Given the description of an element on the screen output the (x, y) to click on. 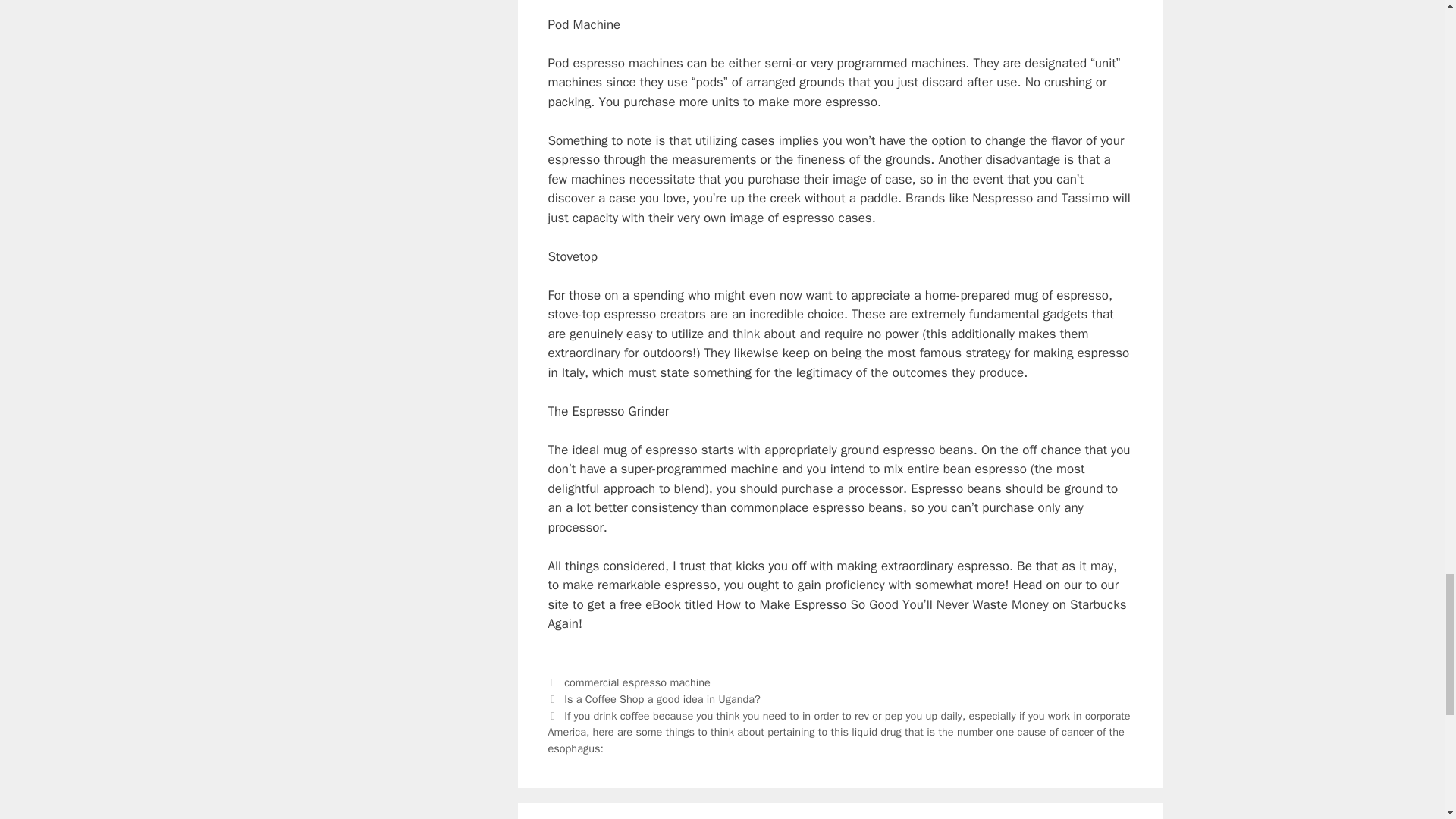
Next (838, 732)
Previous (653, 698)
commercial espresso machine (637, 682)
Is a Coffee Shop a good idea in Uganda? (662, 698)
